Given the description of an element on the screen output the (x, y) to click on. 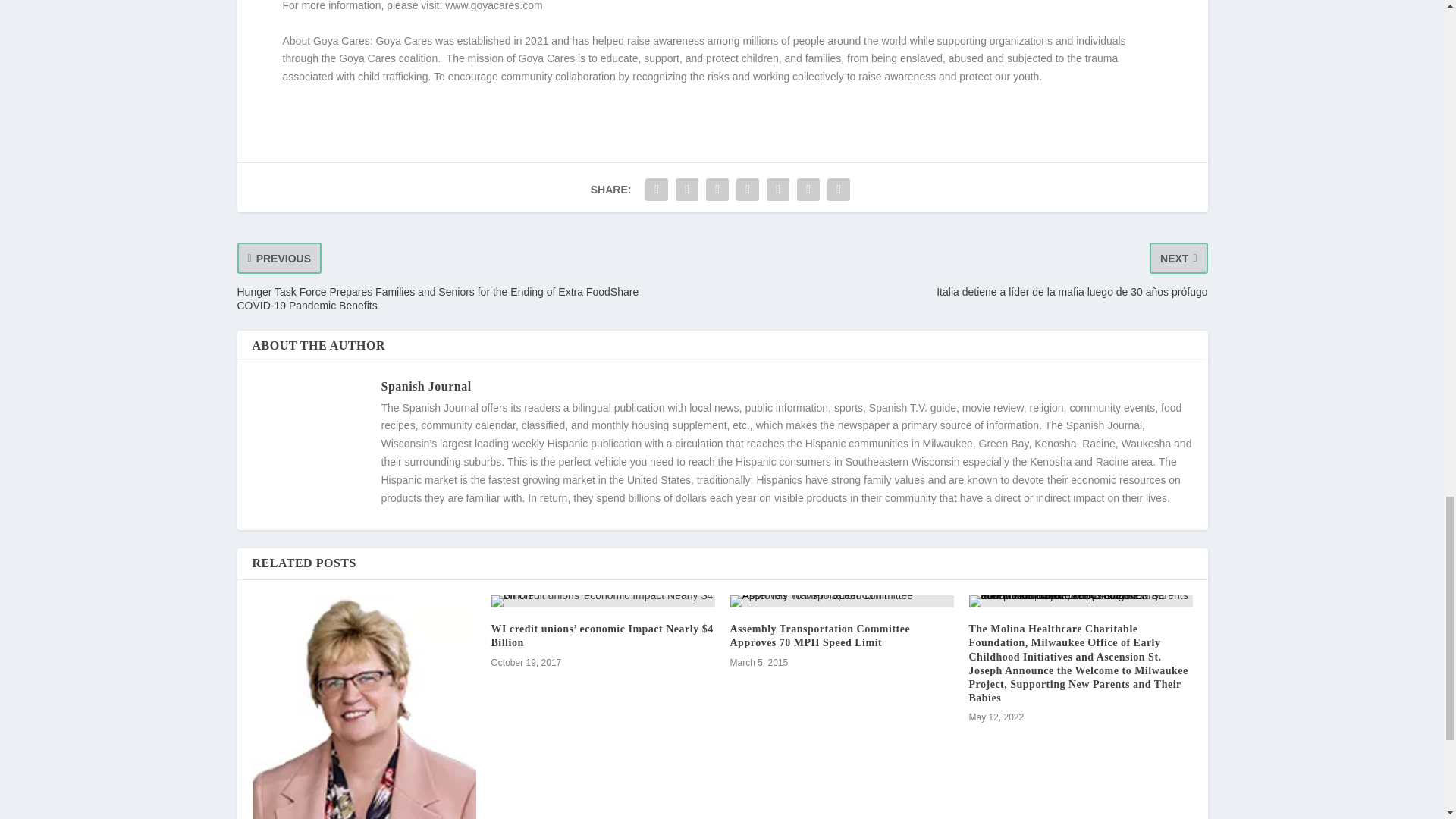
View all posts by Spanish Journal (425, 386)
